Given the description of an element on the screen output the (x, y) to click on. 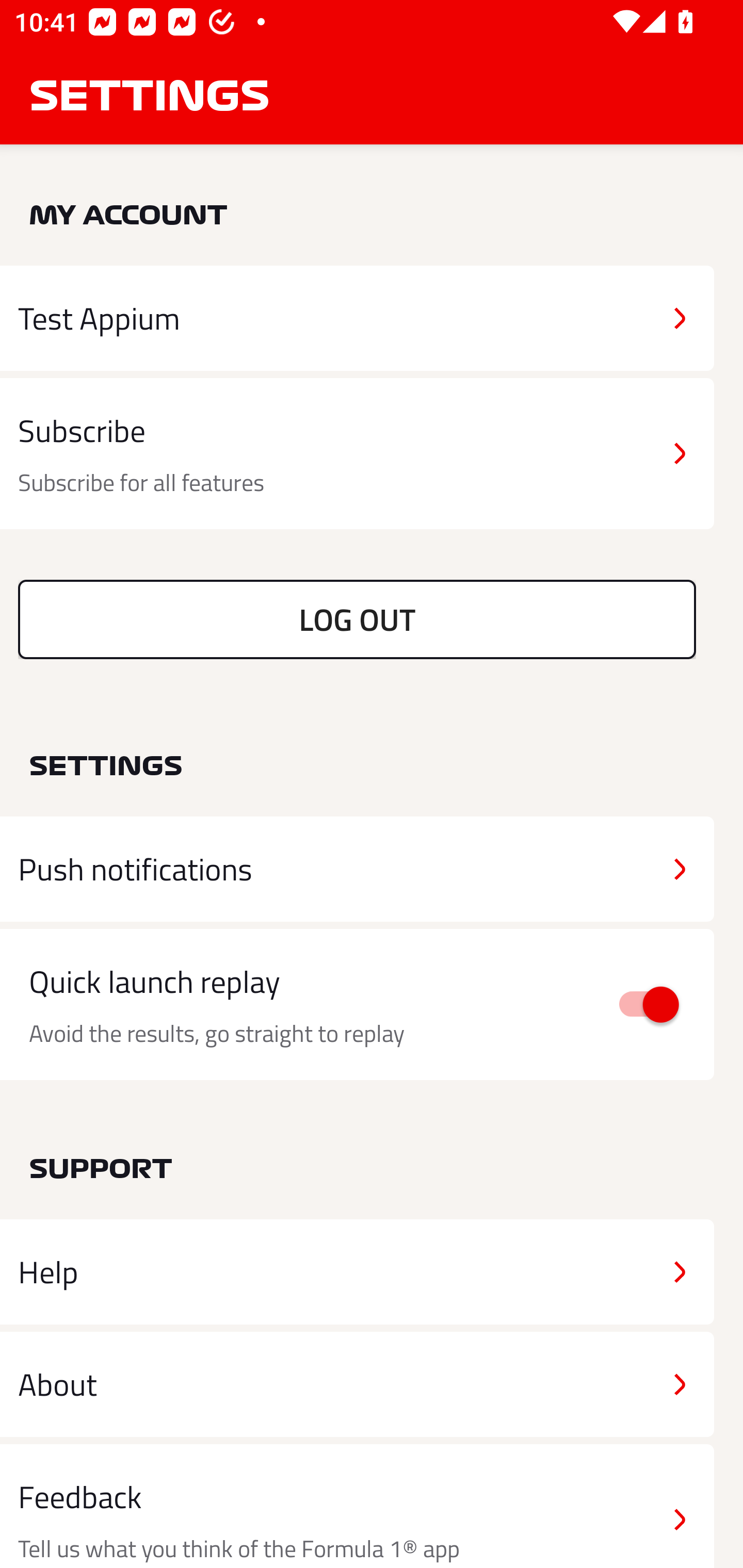
Test Appium (357, 317)
Subscribe Subscribe for all features (357, 453)
LOG OUT (356, 619)
Push notifications (357, 868)
Help (357, 1271)
About (357, 1383)
